Given the description of an element on the screen output the (x, y) to click on. 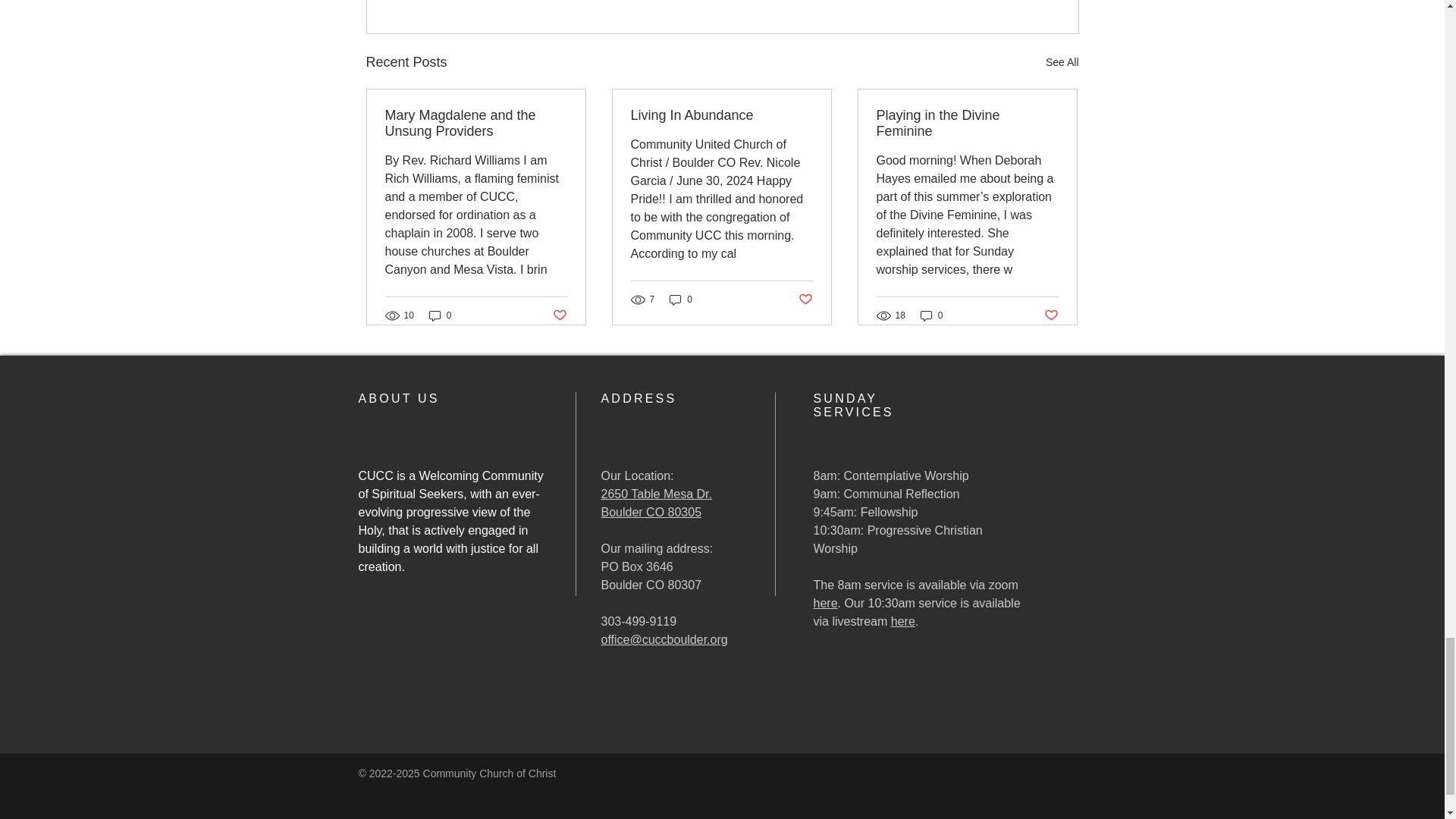
0 (440, 314)
See All (1061, 62)
Mary Magdalene and the Unsung Providers (476, 123)
Post not marked as liked (558, 315)
